Given the description of an element on the screen output the (x, y) to click on. 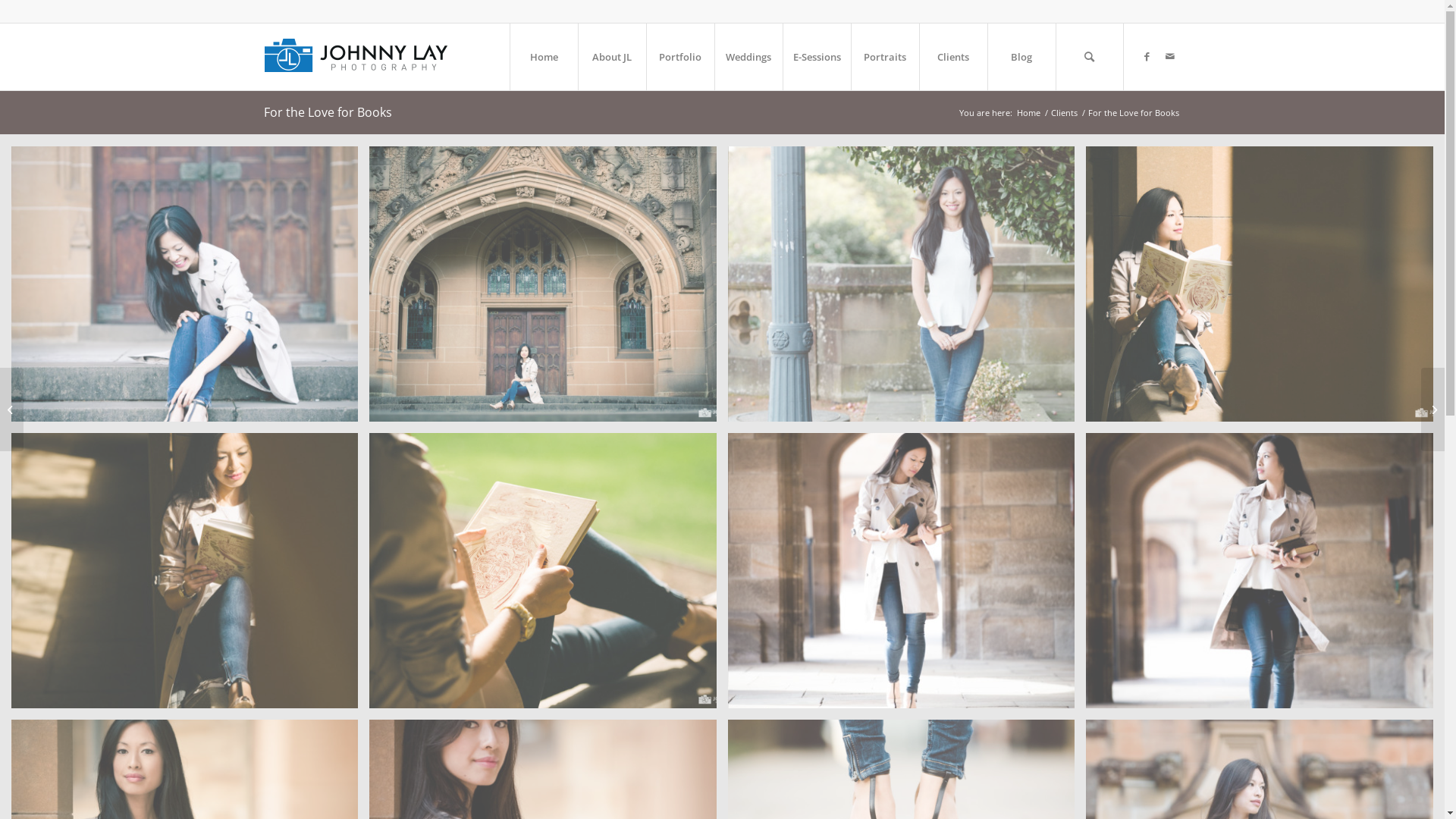
Portfolio Element type: text (680, 56)
About JL Element type: text (611, 56)
Julie_loveforbooks_0193-lowr Element type: hover (906, 576)
Julie_loveforbooks_0147-lowr Element type: hover (1258, 283)
Julie_loveforbooks_0211-lowr Element type: hover (1258, 570)
Facebook Element type: hover (1146, 55)
Julie_loveforbooks_0153-lowr Element type: hover (184, 570)
Julie_loveforbooks_0147-lowr Element type: hover (1264, 289)
JLP_Logo_02 Element type: hover (365, 56)
Julie_loveforbooks_0046-lowr Element type: hover (184, 283)
Portraits Element type: text (884, 56)
Julie_loveforbooks_0163-lowr Element type: hover (548, 576)
Julie_loveforbooks_0105-lowr Element type: hover (901, 283)
Mail Element type: hover (1169, 55)
Julie_loveforbooks_0193-lowr Element type: hover (901, 570)
Julie_loveforbooks_0153-lowr Element type: hover (190, 576)
For the Love for Books Element type: text (327, 111)
Clients Element type: text (953, 56)
Clients Element type: text (1063, 112)
Home Element type: text (543, 56)
E-Sessions Element type: text (816, 56)
Julie_loveforbooks_0069-lowr Element type: hover (548, 289)
Weddings Element type: text (748, 56)
Home Element type: text (1028, 112)
Julie_loveforbooks_0046-lowr Element type: hover (190, 289)
Blog Element type: text (1021, 56)
Julie_loveforbooks_0211-lowr Element type: hover (1264, 576)
Julie_loveforbooks_0163-lowr Element type: hover (542, 570)
Julie_loveforbooks_0069-lowr Element type: hover (542, 283)
Julie_loveforbooks_0105-lowr Element type: hover (906, 289)
JLP_Logo_02 Element type: hover (365, 53)
